Given the description of an element on the screen output the (x, y) to click on. 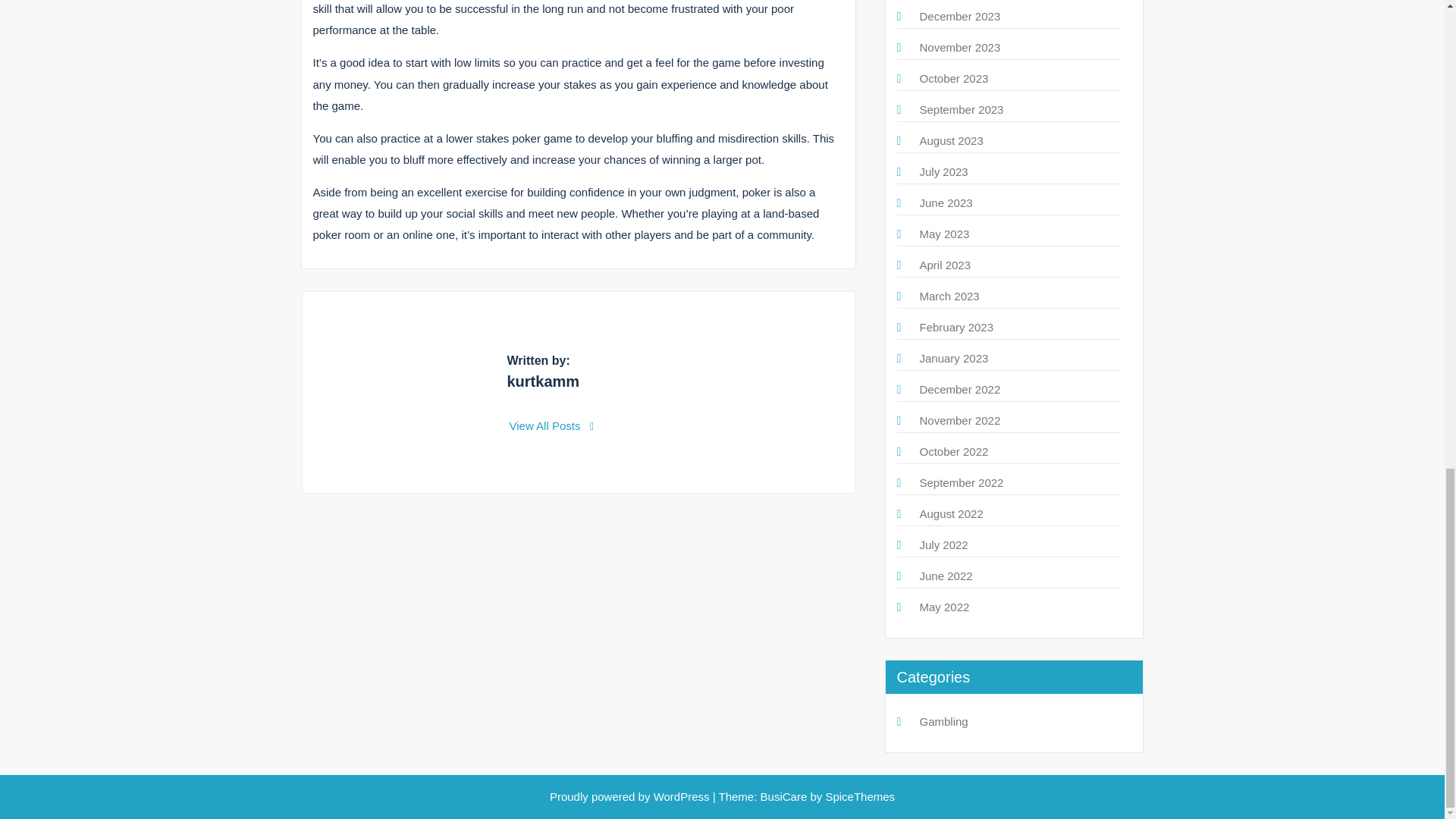
July 2023 (943, 171)
November 2023 (959, 47)
August 2023 (950, 140)
March 2023 (948, 295)
December 2022 (959, 389)
June 2023 (945, 202)
December 2023 (959, 15)
View All Posts (551, 425)
September 2023 (960, 109)
July 2022 (943, 544)
